Given the description of an element on the screen output the (x, y) to click on. 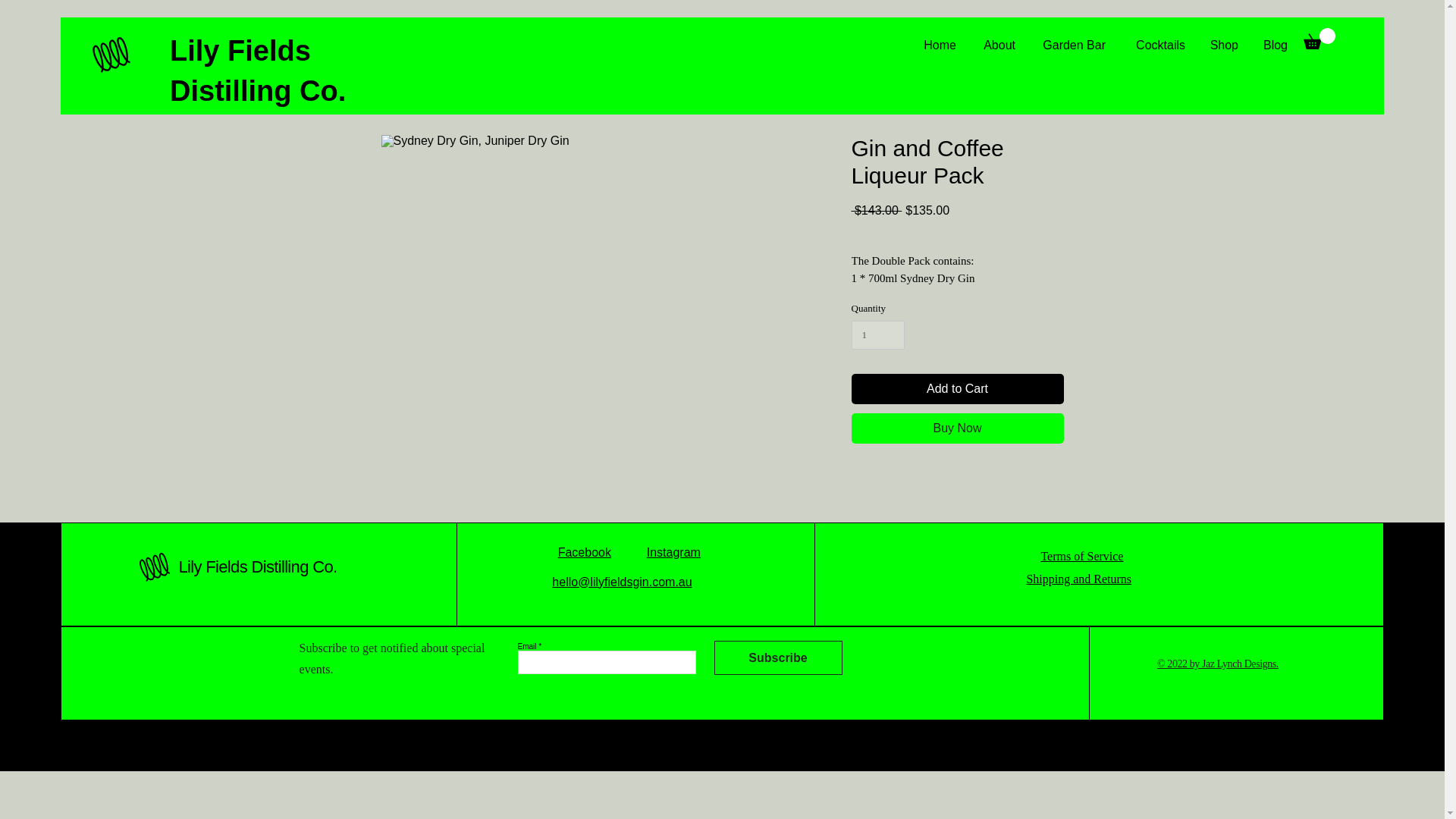
Lily Fields Distilling Co. (256, 566)
Buy Now (956, 428)
Terms of Service (1081, 555)
About (997, 45)
Shop (1222, 45)
Garden Bar (1071, 45)
Subscribe (778, 657)
Facebook (584, 552)
Shipping and Returns (1078, 578)
Blog (1273, 45)
Cocktails (1156, 45)
Home (939, 45)
Instagram (673, 552)
Add to Cart (956, 388)
1 (877, 335)
